Given the description of an element on the screen output the (x, y) to click on. 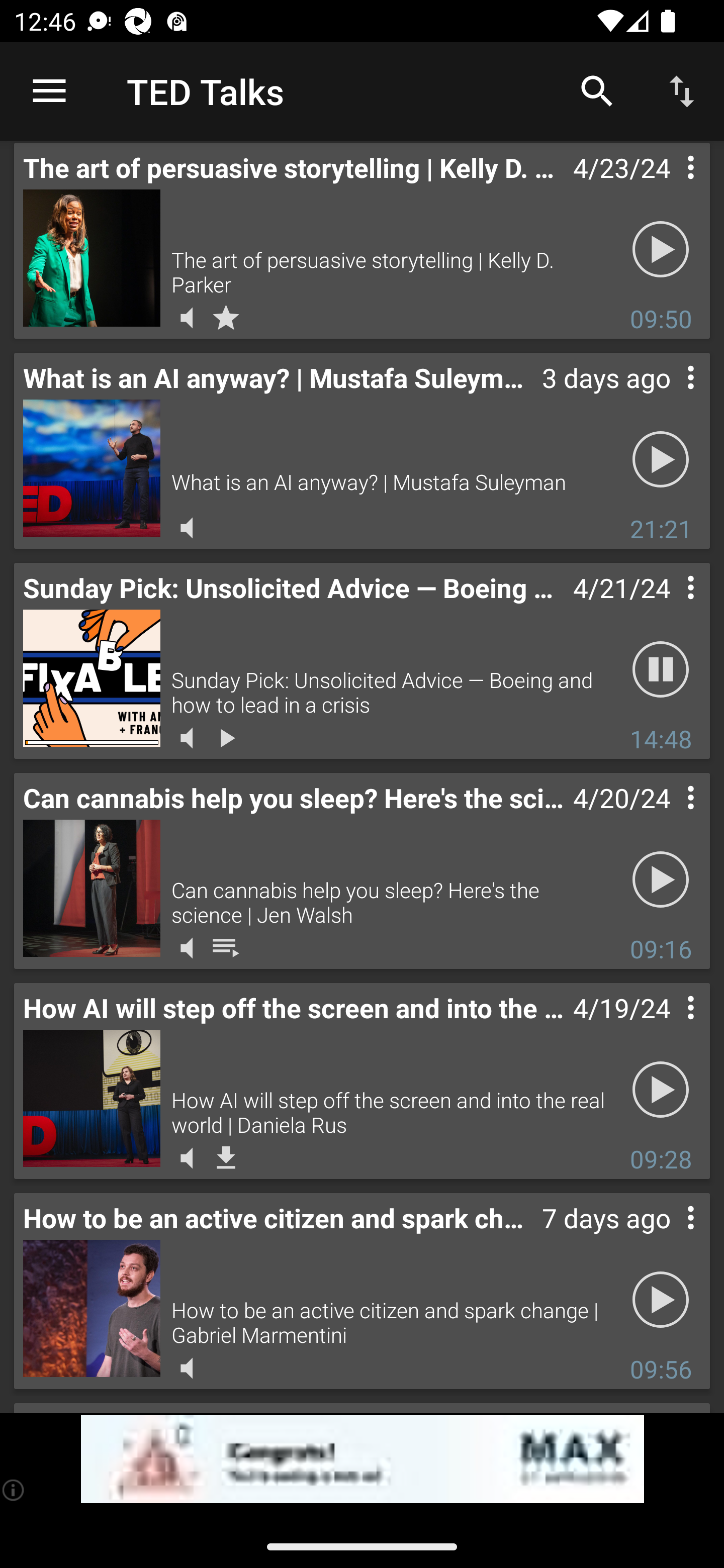
Open navigation sidebar (49, 91)
Search (597, 90)
Sort (681, 90)
Contextual menu (668, 186)
Play (660, 248)
Contextual menu (668, 397)
Play (660, 459)
Contextual menu (668, 607)
Pause (660, 669)
Contextual menu (668, 817)
Play (660, 878)
Contextual menu (668, 1027)
Play (660, 1088)
Contextual menu (668, 1237)
Play (660, 1298)
app-monetization (362, 1459)
(i) (14, 1489)
